Given the description of an element on the screen output the (x, y) to click on. 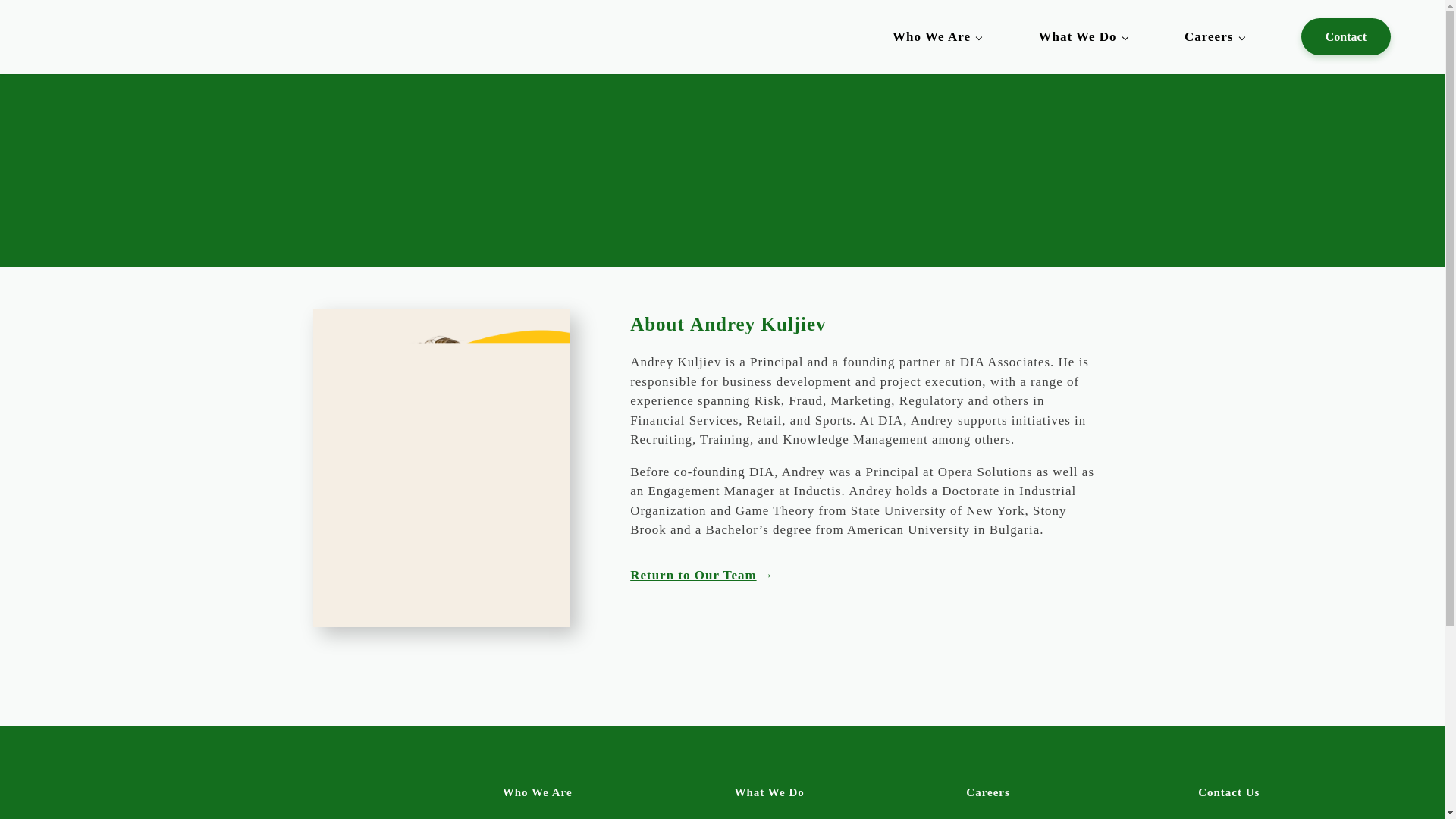
Who We Are (936, 36)
Junior Analyst (1007, 816)
What We Do (768, 792)
Contact (1345, 37)
What We Do (1082, 36)
Careers (1214, 36)
Our Story (530, 816)
Careers (988, 792)
Who We Are (537, 792)
